Given the description of an element on the screen output the (x, y) to click on. 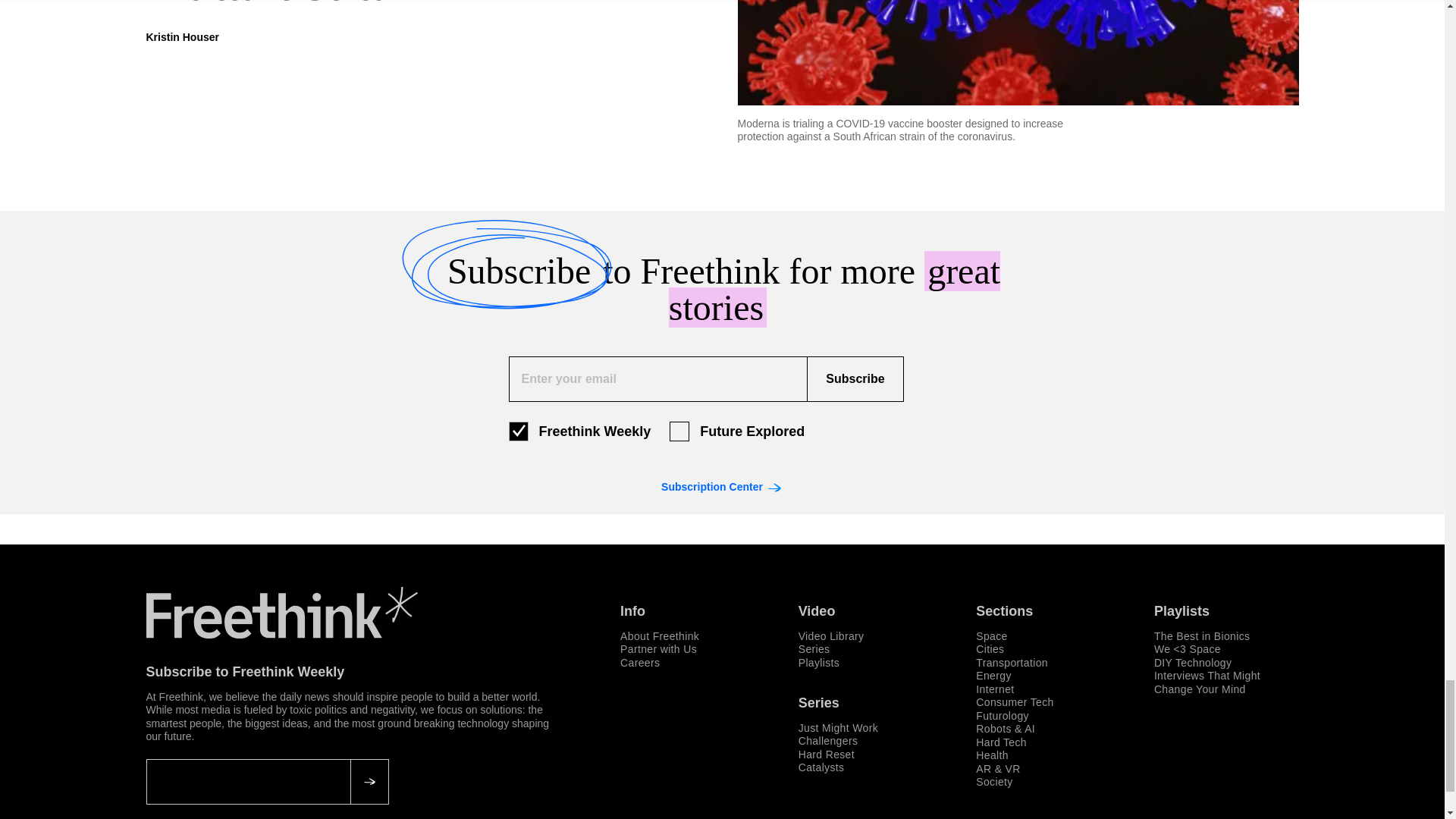
Subscribe (854, 379)
